Given the description of an element on the screen output the (x, y) to click on. 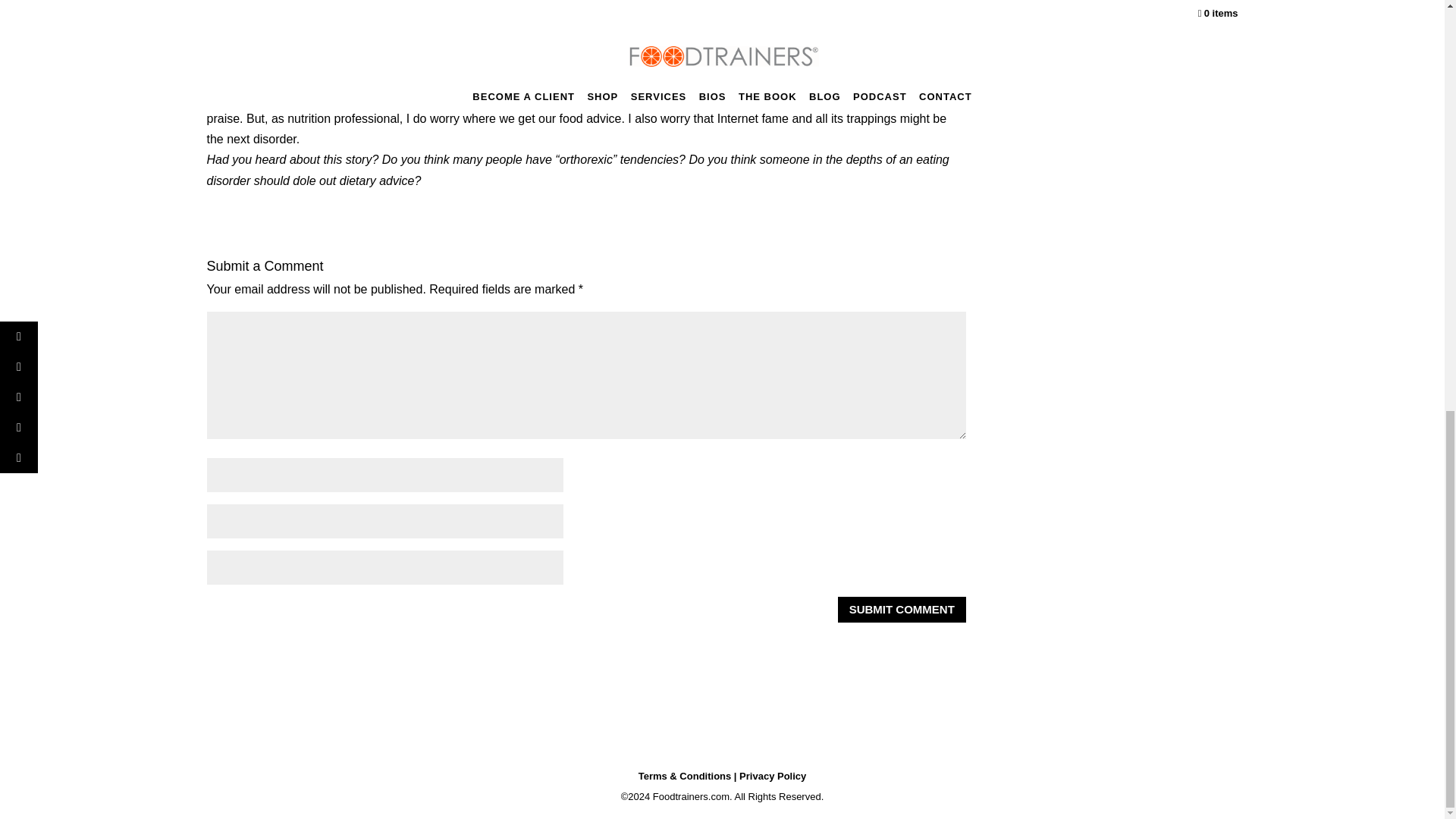
Submit Comment (902, 610)
Submit Comment (902, 610)
